Given the description of an element on the screen output the (x, y) to click on. 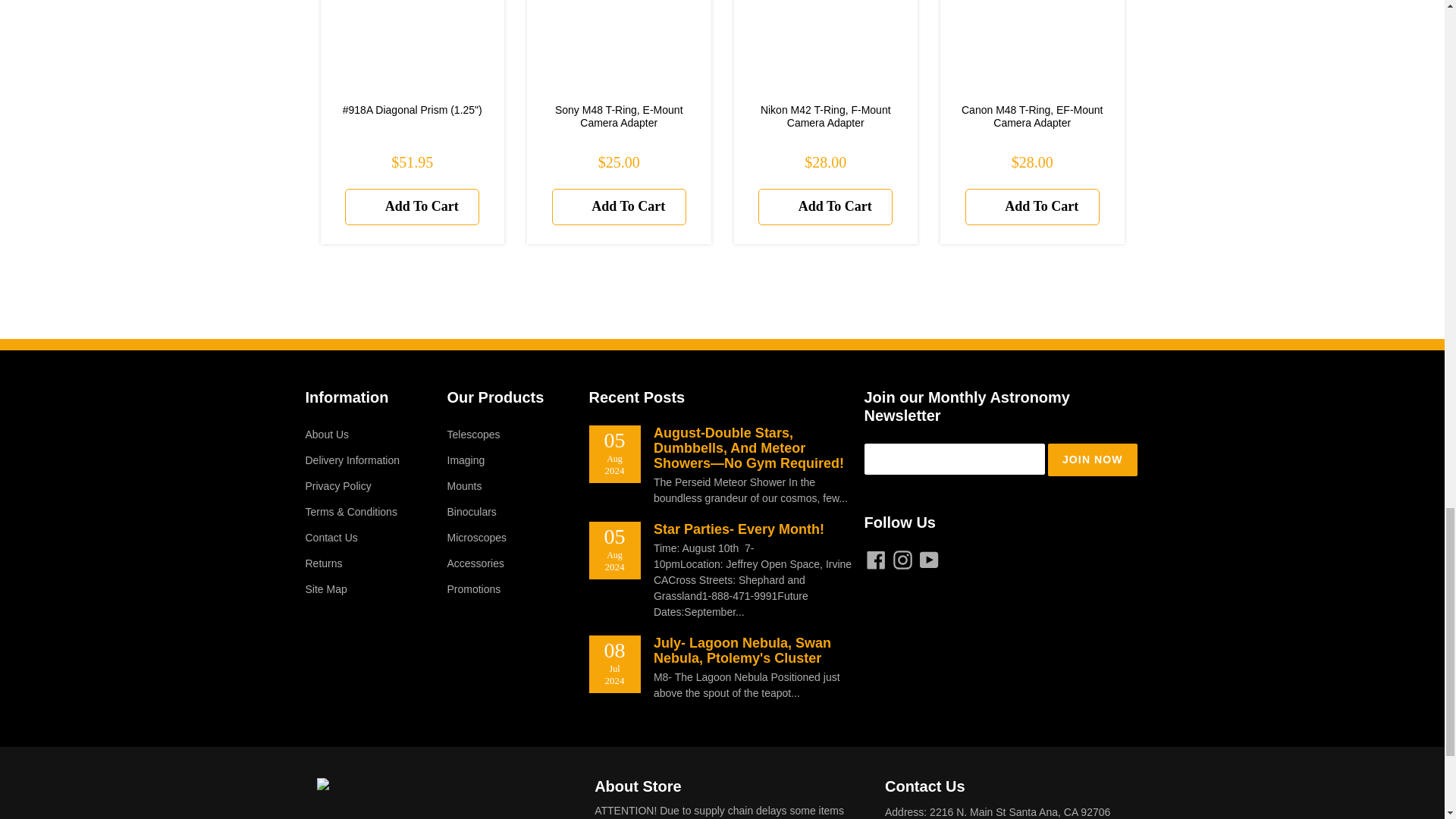
oc telescope on Facebook (876, 559)
add to cart (1032, 207)
add to cart (618, 207)
add to cart (825, 207)
add to cart (412, 207)
oc telescope on Instagram (902, 559)
oc telescope on YouTube (928, 559)
